Given the description of an element on the screen output the (x, y) to click on. 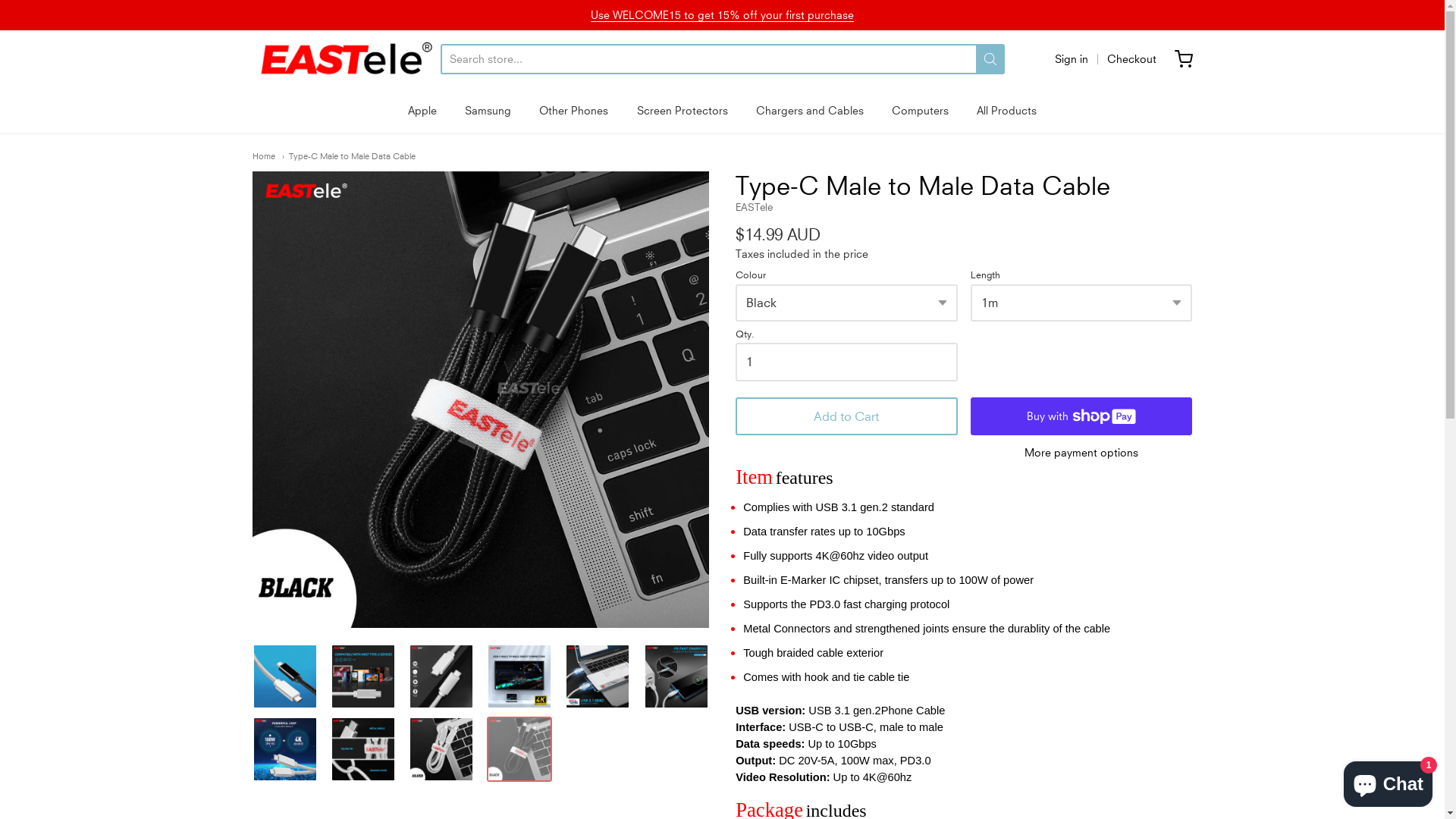
EASTele Element type: text (753, 206)
Type-C Male to Male Data Cable Element type: hover (676, 676)
Home Element type: text (262, 155)
Type-C Male to Male Data Cable Element type: hover (283, 676)
Type-C Male to Male Data Cable Element type: hover (440, 748)
Shopify online store chat Element type: hover (1388, 780)
Chargers and Cables Element type: text (809, 110)
All Products Element type: text (1006, 110)
Use WELCOME15 to get 15% off your first purchase Element type: text (721, 14)
Type-C Male to Male Data Cable Element type: text (348, 155)
Add to Cart Element type: text (846, 416)
More payment options Element type: text (1081, 452)
Apple Element type: text (421, 110)
Type-C Male to Male Data Cable Element type: hover (597, 676)
Screen Protectors Element type: text (682, 110)
Samsung Element type: text (487, 110)
Sign in Element type: text (1070, 59)
Type-C Male to Male Data Cable Element type: hover (440, 676)
Checkout Element type: text (1131, 59)
Type-C Male to Male Data Cable Element type: hover (283, 748)
Type-C Male to Male Data Cable Element type: hover (362, 748)
Type-C Male to Male Data Cable Element type: hover (519, 748)
Computers Element type: text (919, 110)
Type-C Male to Male Data Cable Element type: hover (362, 676)
Type-C Male to Male Data Cable Element type: hover (479, 399)
Type-C Male to Male Data Cable Element type: hover (519, 676)
Other Phones Element type: text (573, 110)
EASTele Element type: hover (345, 58)
